Given the description of an element on the screen output the (x, y) to click on. 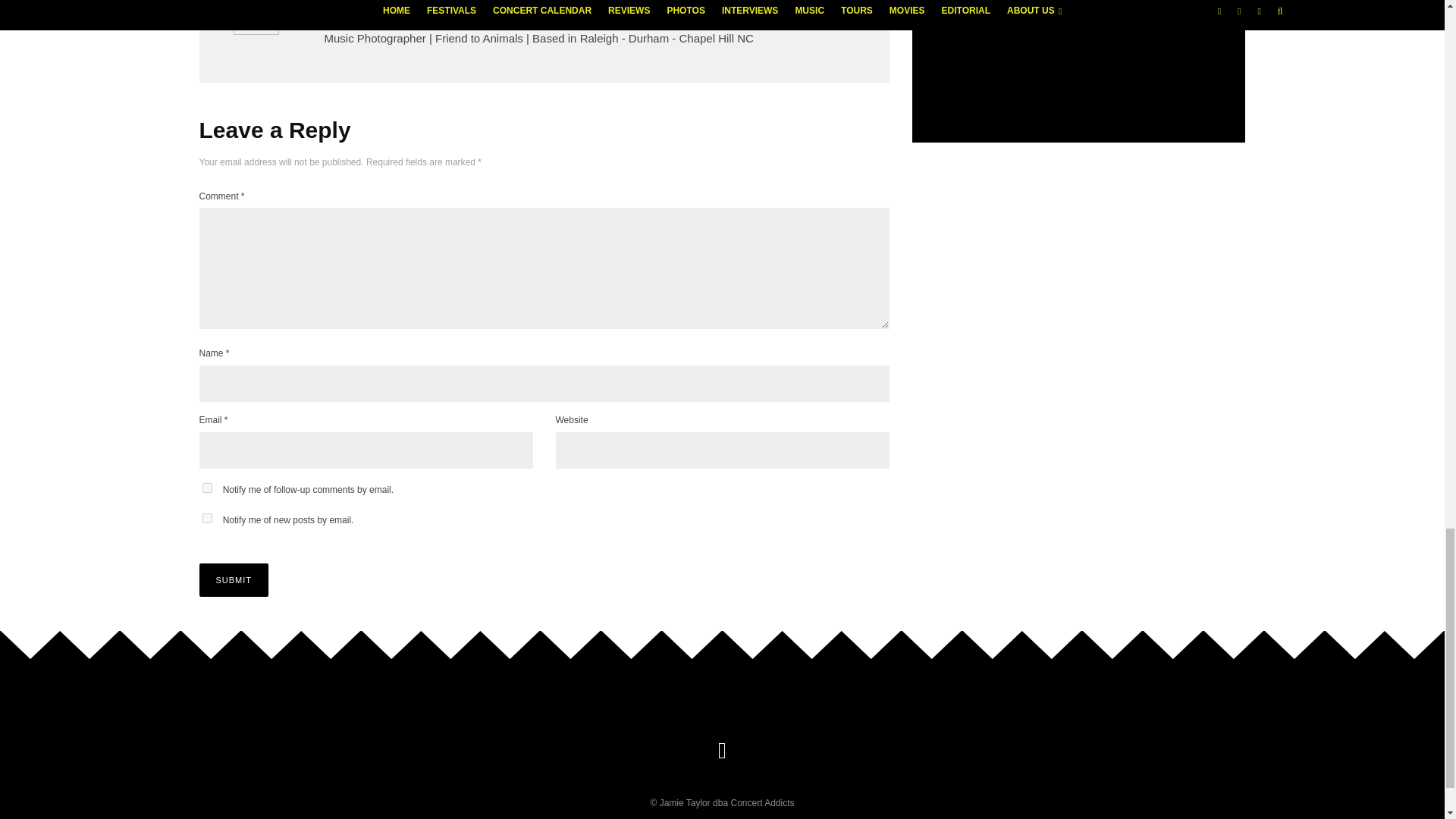
Submit (232, 580)
subscribe (206, 488)
subscribe (206, 518)
